Given the description of an element on the screen output the (x, y) to click on. 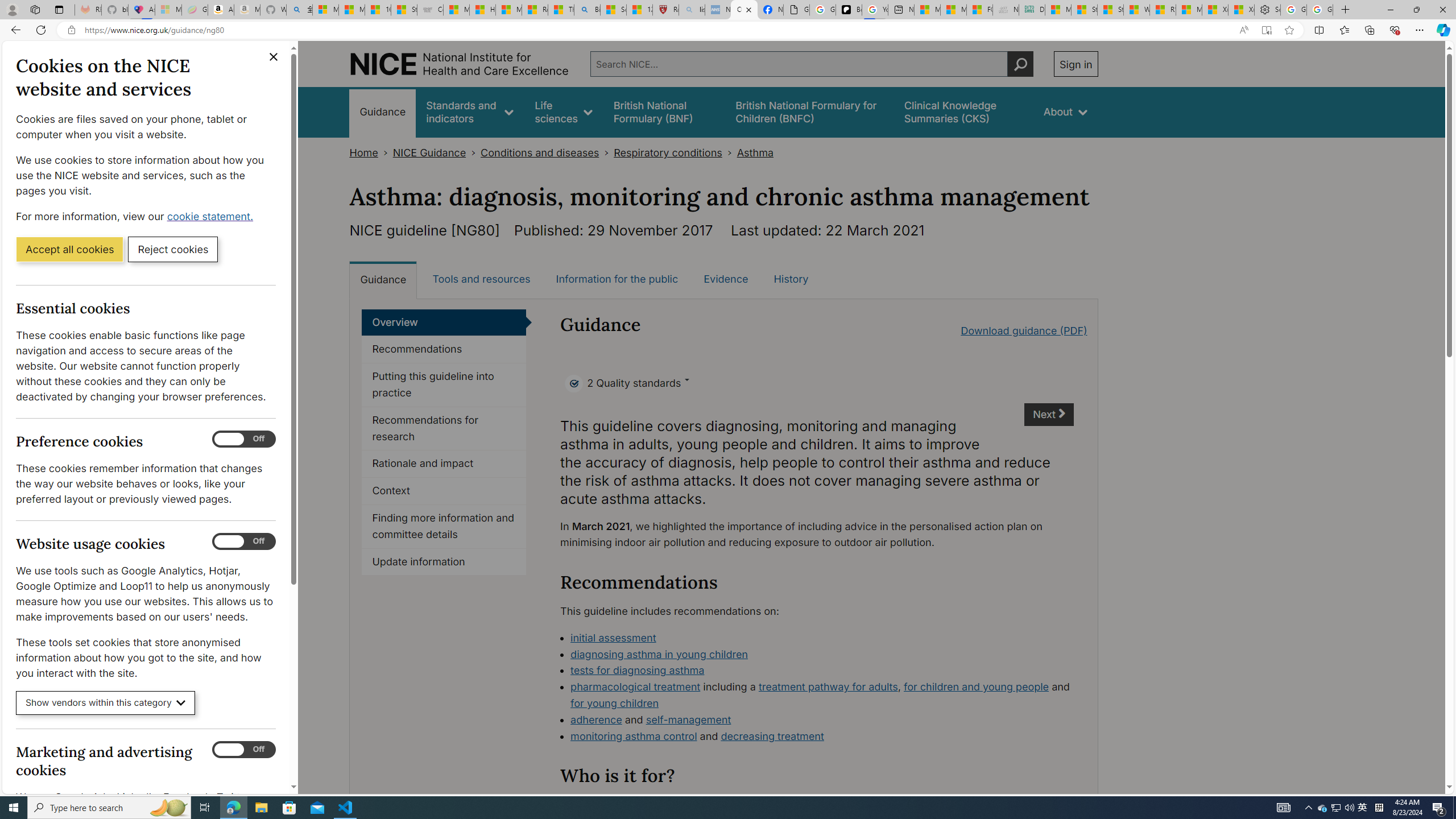
Preference cookies (243, 438)
British National Formulary for Children (BNFC) (809, 111)
for children and young people (976, 686)
Respiratory conditions (667, 152)
initial assessment (822, 638)
Show vendors within this category (105, 703)
Overview (443, 321)
Guidance (383, 279)
